Given the description of an element on the screen output the (x, y) to click on. 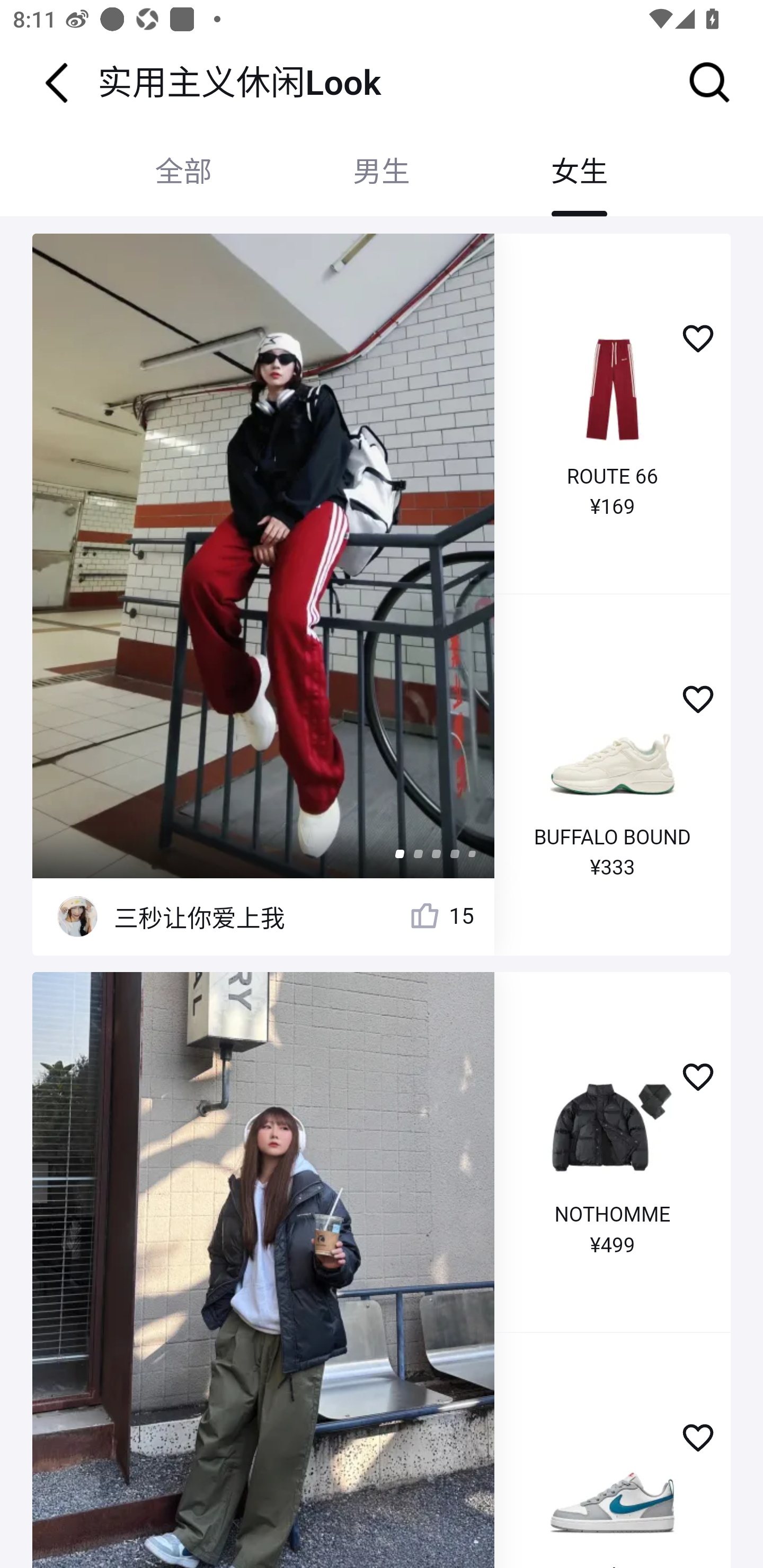
实用主义休闲Look (238, 82)
全部 (183, 172)
男生 (381, 172)
女生 (579, 172)
resize,w_454 (263, 555)
resize,w_183 ROUTE 66 ¥169 (612, 413)
resize,w_183 BUFFALO BOUND ¥333 (612, 775)
15 (440, 916)
resize,w_72 (76, 916)
三秒让你爱上我 (199, 916)
resize,w_454 resize,w_454 resize,w_454 (263, 1269)
resize,w_183 NOTHOMME ¥499 (612, 1151)
resize,w_183 Nike (612, 1449)
